Given the description of an element on the screen output the (x, y) to click on. 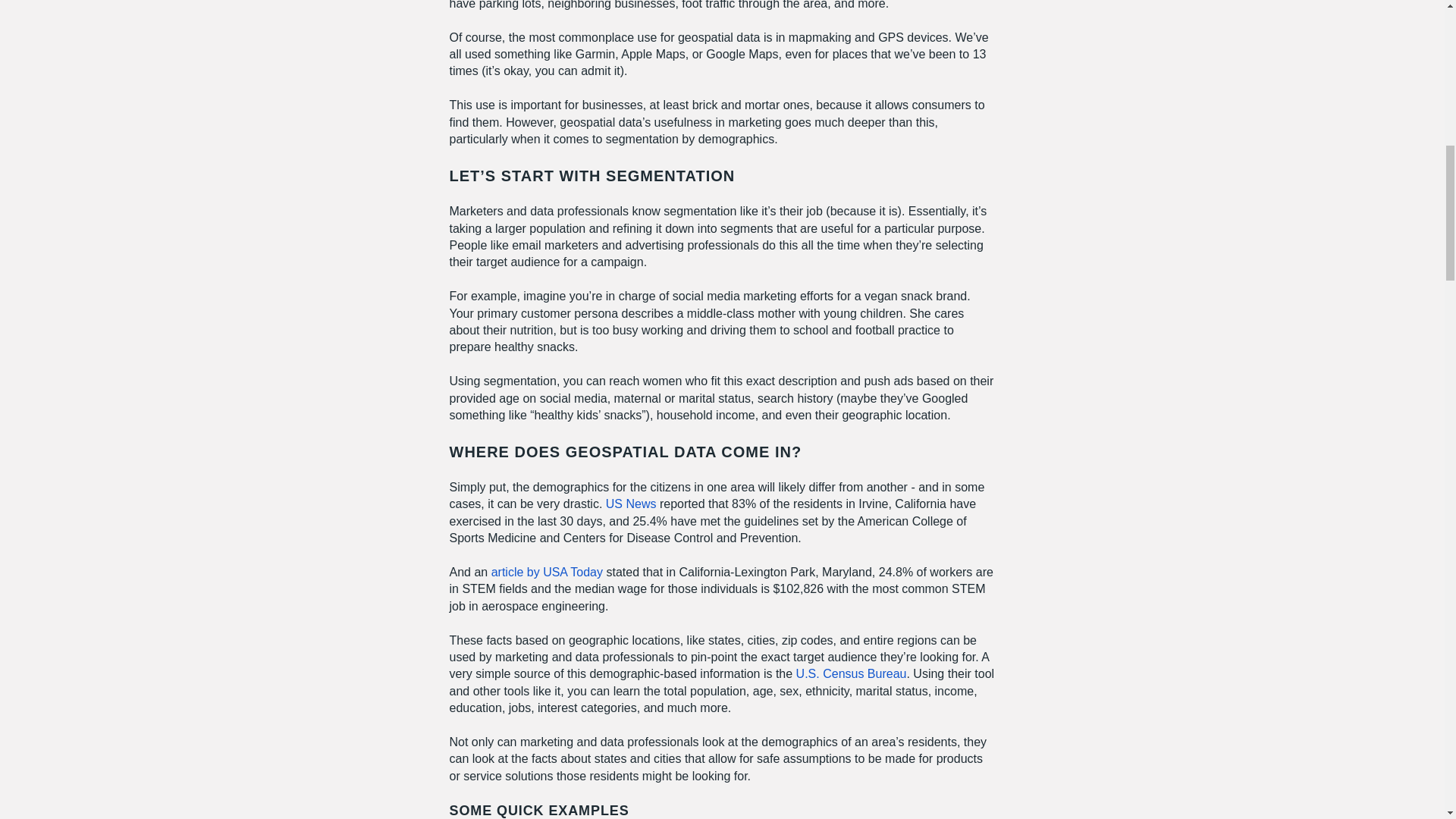
U.S. Census Bureau (851, 673)
article by USA Today (547, 571)
US News (630, 503)
